Given the description of an element on the screen output the (x, y) to click on. 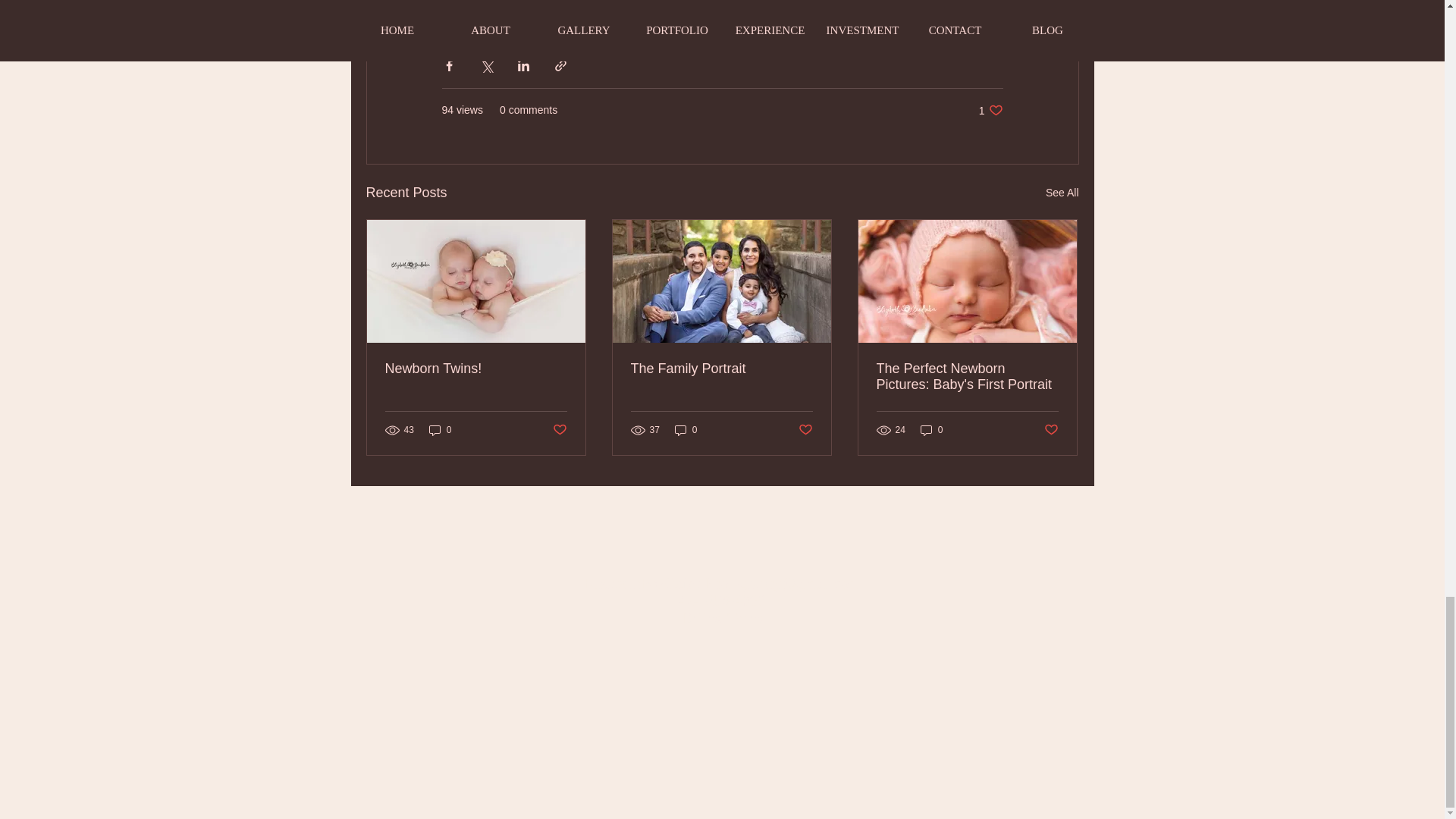
Newborn Twins! (476, 368)
The Perfect Newborn Pictures: Baby's First Portrait (990, 110)
0 (967, 377)
The Family Portrait (931, 430)
Post not marked as liked (721, 368)
0 (558, 430)
See All (685, 430)
Post not marked as liked (1061, 192)
Post not marked as liked (804, 430)
